Given the description of an element on the screen output the (x, y) to click on. 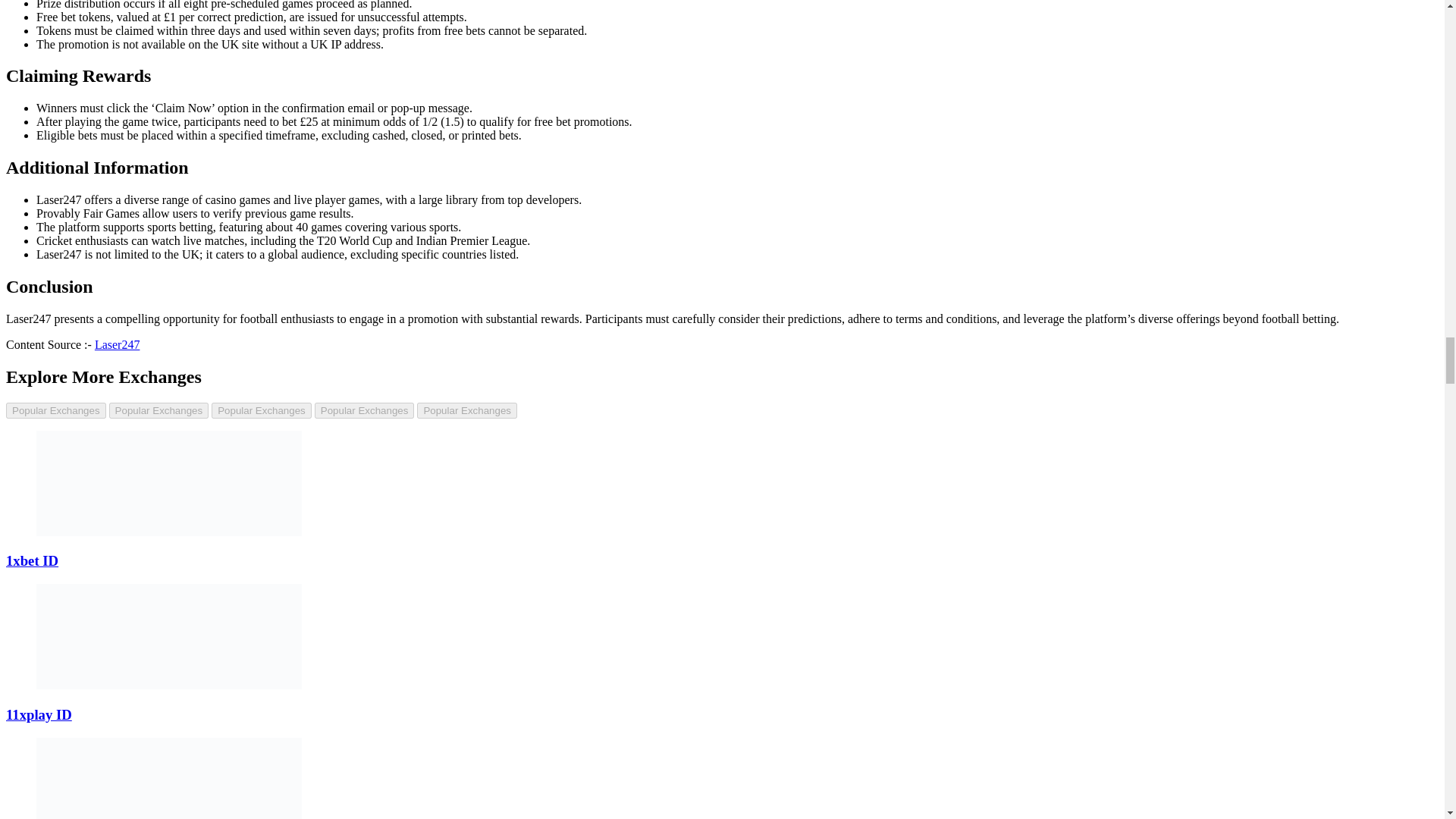
Popular Exchanges (364, 410)
Popular Exchanges (159, 410)
11xplay ID (38, 714)
Popular Exchanges (261, 410)
Popular Exchanges (55, 410)
Popular Exchanges (466, 410)
Laser247 (116, 344)
1xbet ID (31, 560)
